Given the description of an element on the screen output the (x, y) to click on. 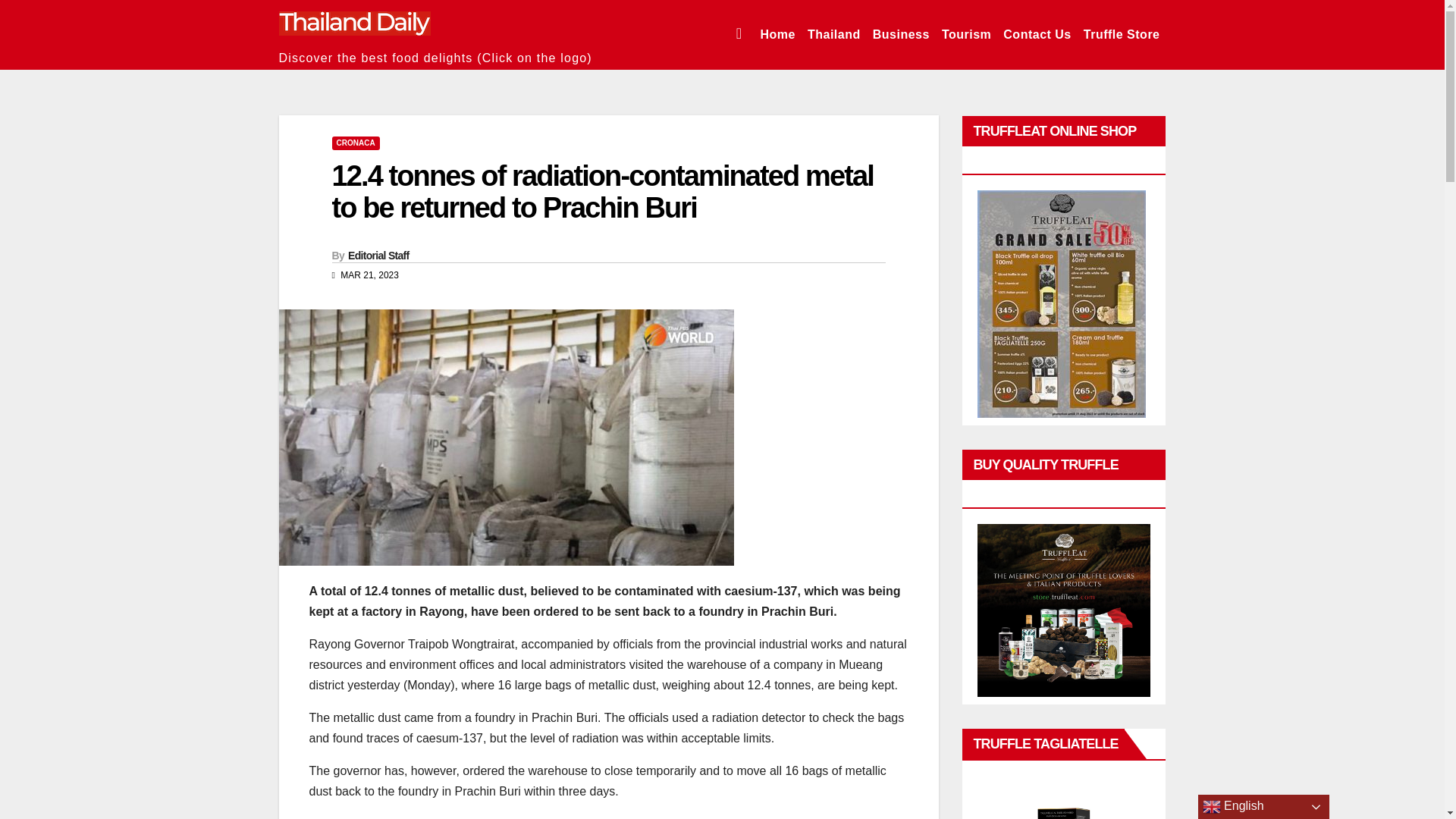
Business (901, 34)
Truffle Store (1121, 34)
Tourism (966, 34)
Thailand (834, 34)
CRONACA (355, 142)
Tourism (966, 34)
Editorial Staff (378, 255)
Contact Us (1037, 34)
Contact Us (1037, 34)
Business (901, 34)
Thailand (834, 34)
Truffle Store (1121, 34)
